Given the description of an element on the screen output the (x, y) to click on. 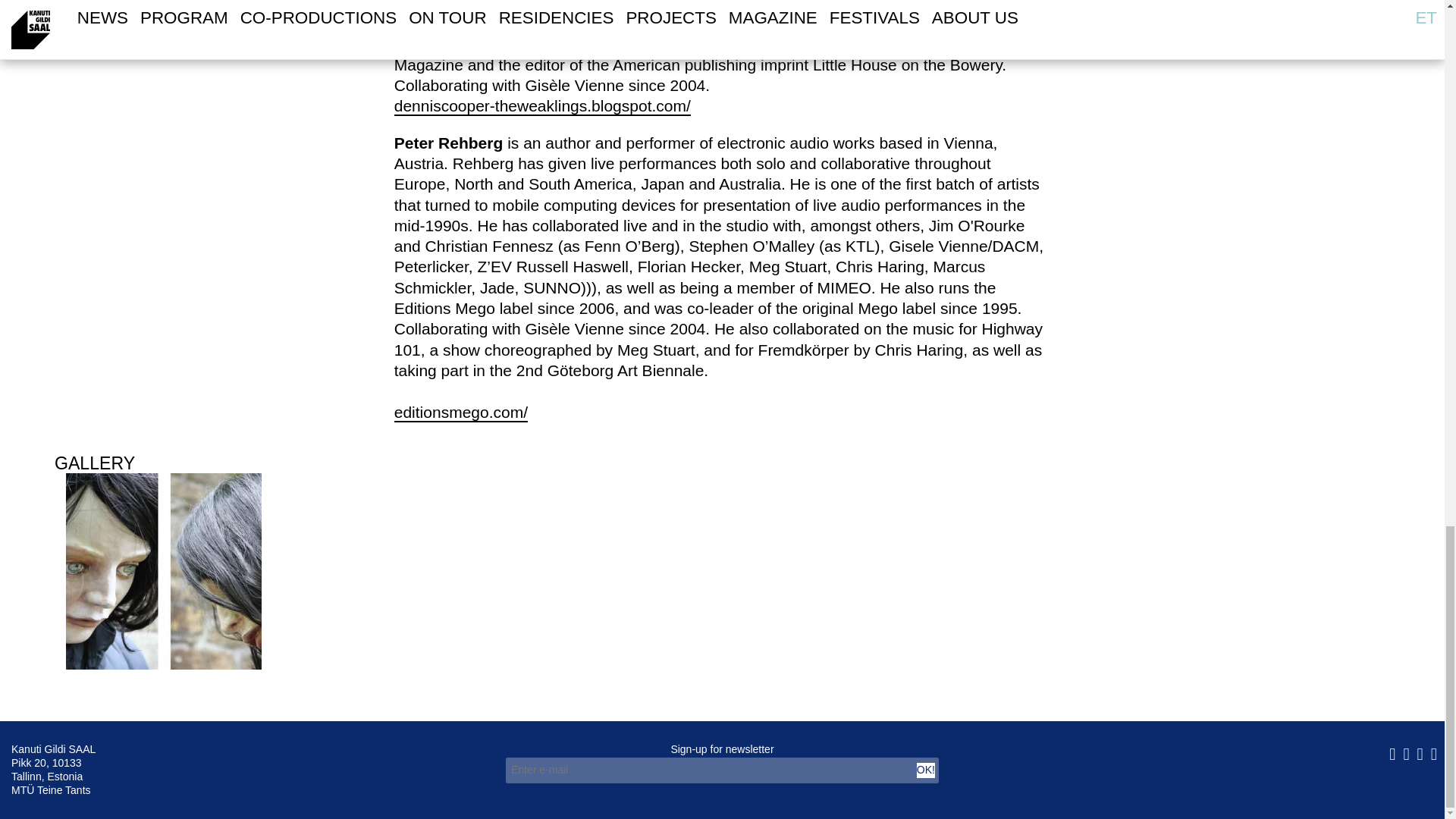
OK! (925, 770)
OK! (925, 770)
